Given the description of an element on the screen output the (x, y) to click on. 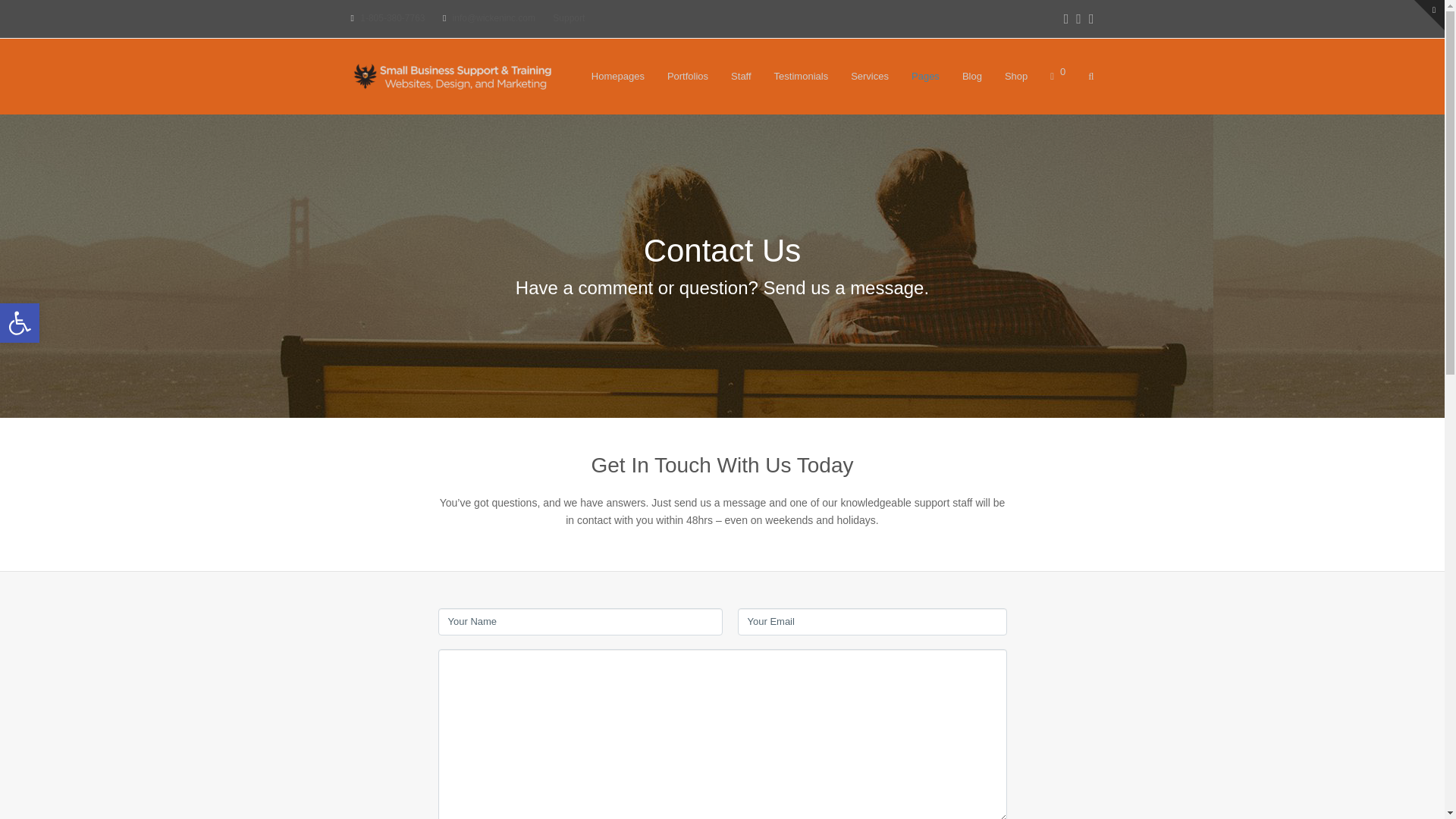
Accessibility Tools (19, 323)
Support (569, 18)
1-805-380-7763 (392, 18)
Homepages (617, 76)
Your Email (871, 621)
Your Name (580, 621)
Accessibility Tools (19, 323)
